Given the description of an element on the screen output the (x, y) to click on. 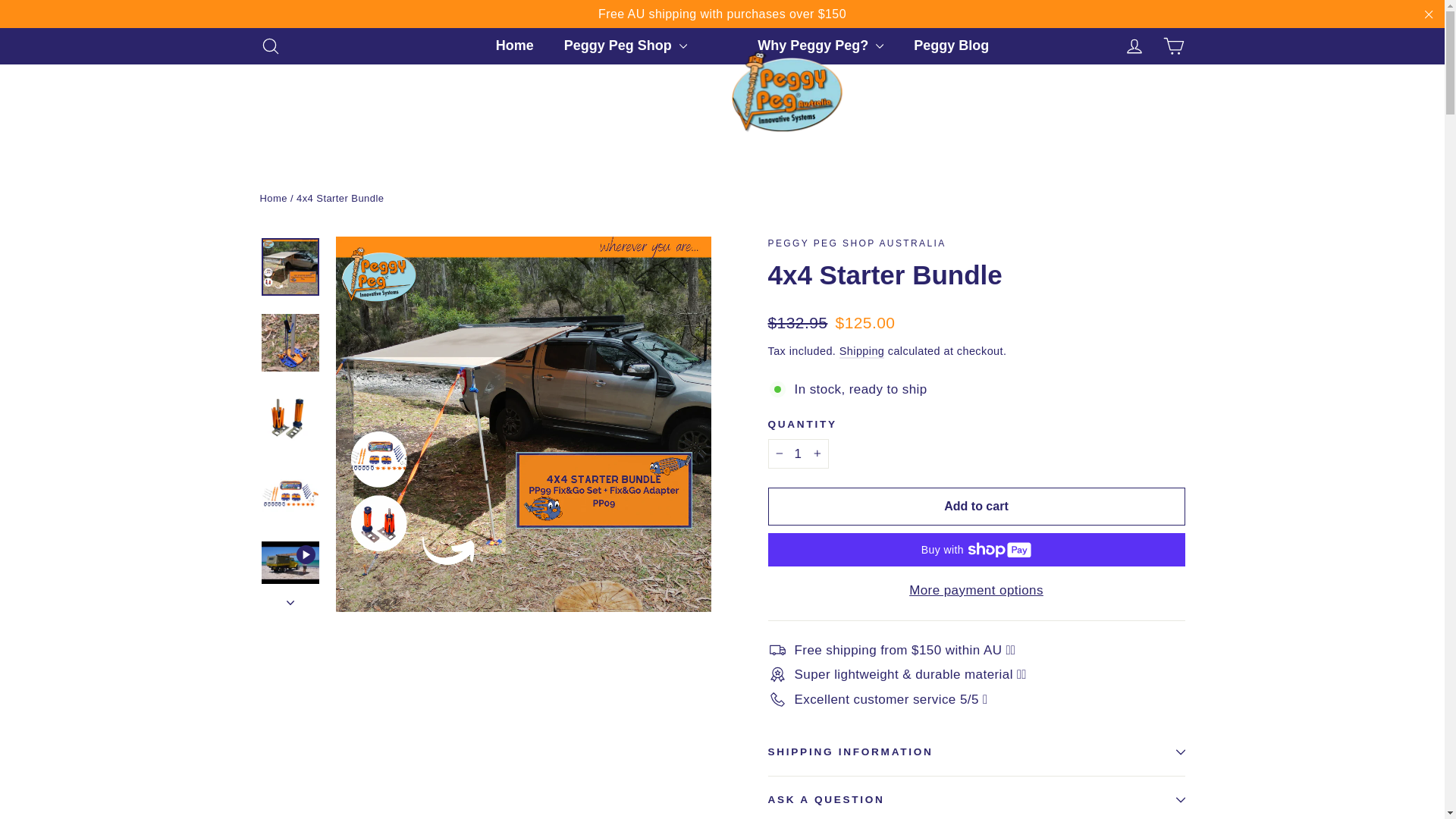
account (1134, 46)
Home (269, 45)
icon-cart (514, 46)
icon-X (1174, 46)
1 (1429, 13)
icon-search (797, 453)
Peggy Peg Shop Australia (270, 46)
Back to the frontpage (855, 243)
